Given the description of an element on the screen output the (x, y) to click on. 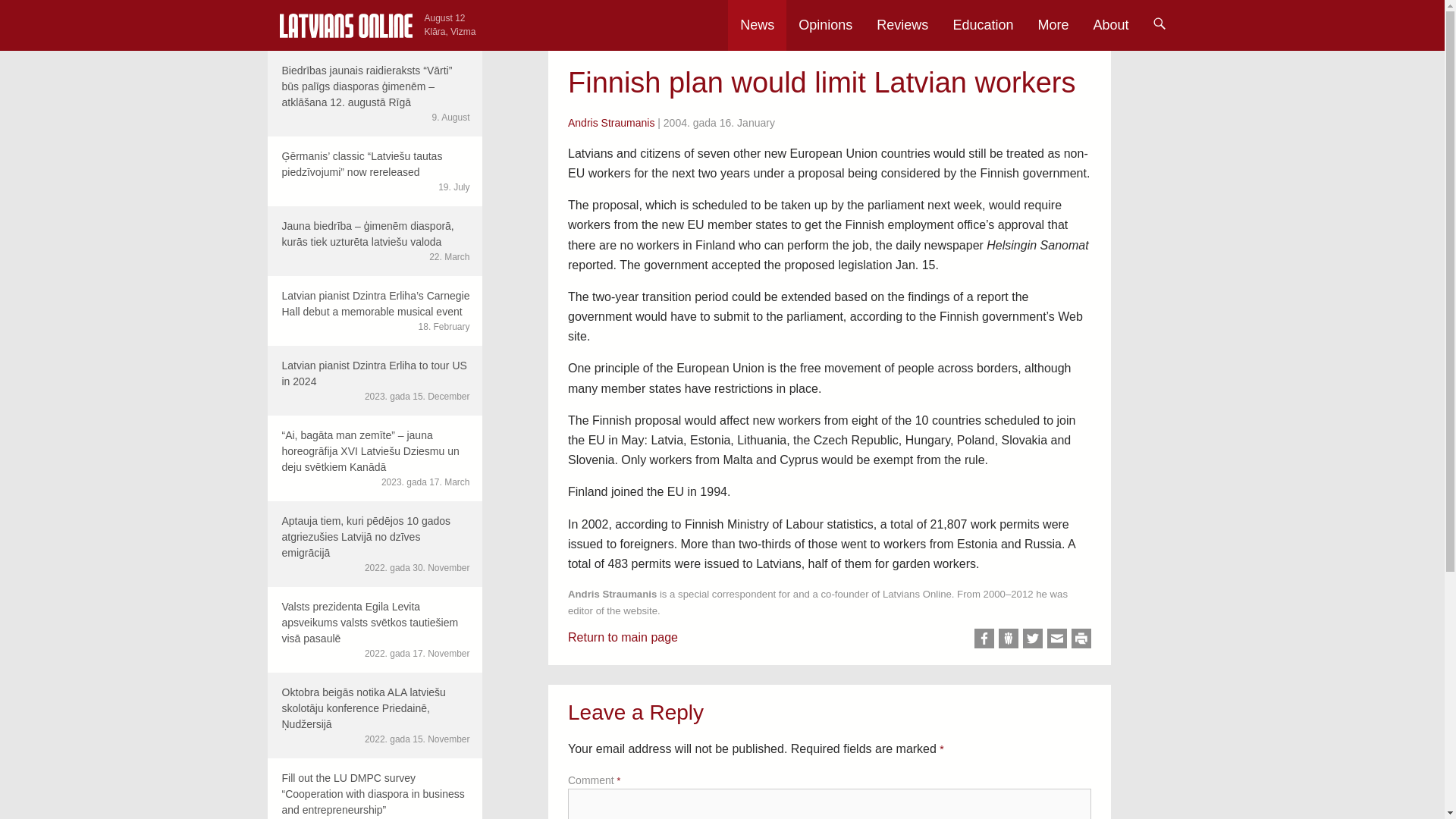
Opinions (825, 25)
Return to main page (622, 636)
About (1110, 25)
Share on Draugiem.lv (1007, 638)
More (1052, 25)
News (757, 25)
Print (1080, 638)
Share via Email (1056, 638)
Share on Twitter (1032, 638)
